Given the description of an element on the screen output the (x, y) to click on. 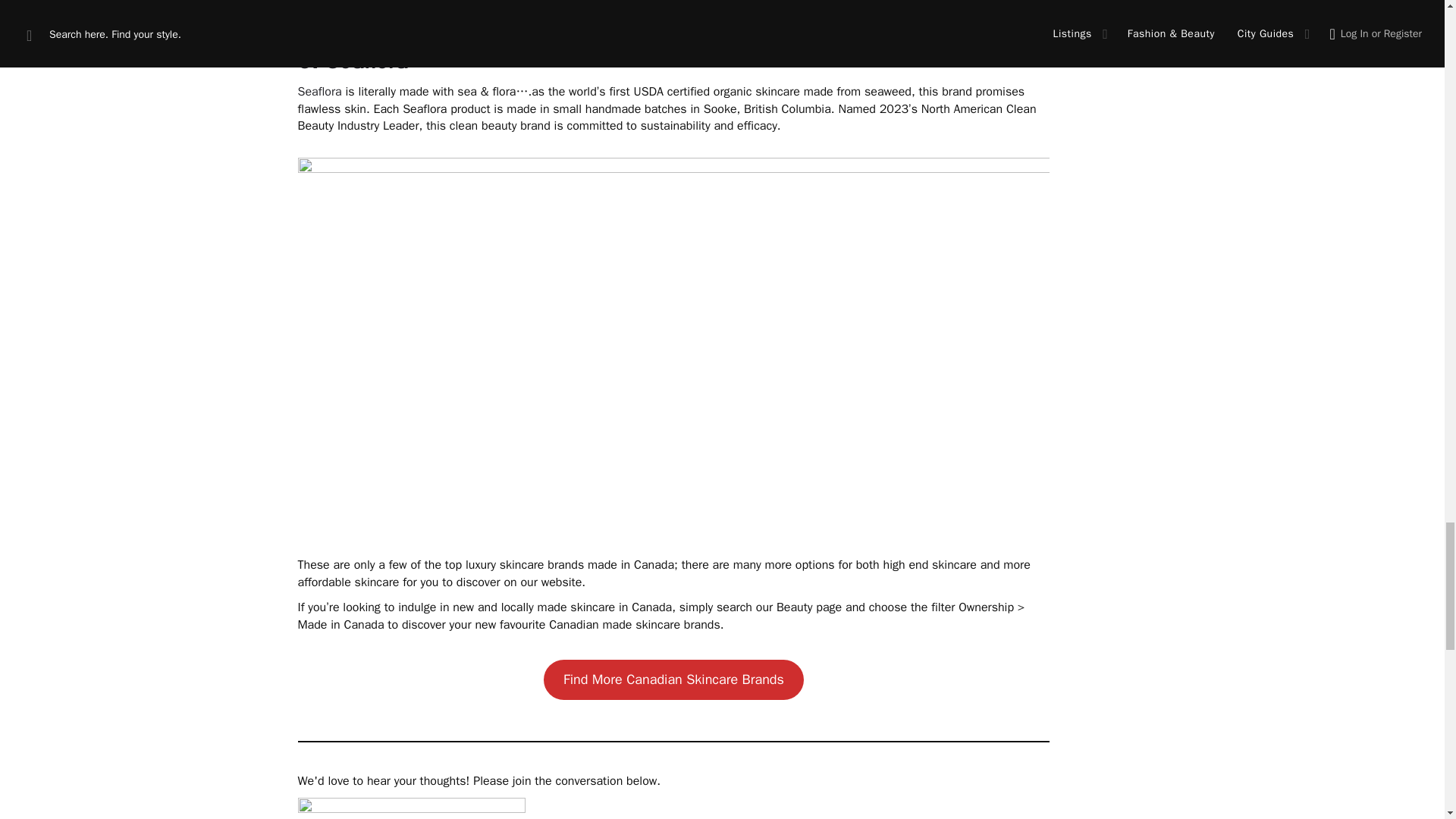
Find More Canadian Skincare Brands (673, 680)
Seaflora (318, 91)
Seaflora (365, 60)
